Given the description of an element on the screen output the (x, y) to click on. 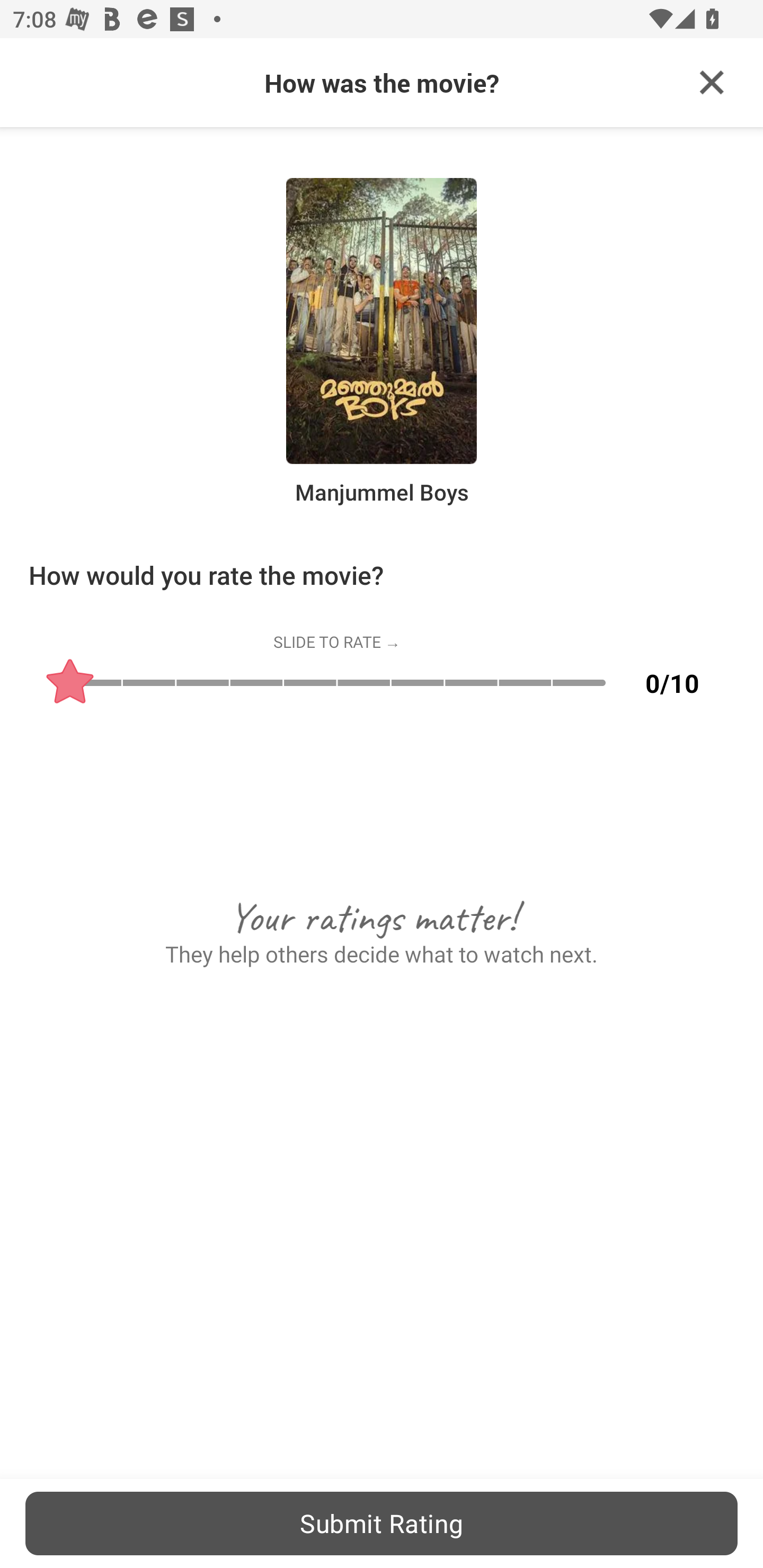
Close (711, 82)
Submit Rating (381, 1523)
